Given the description of an element on the screen output the (x, y) to click on. 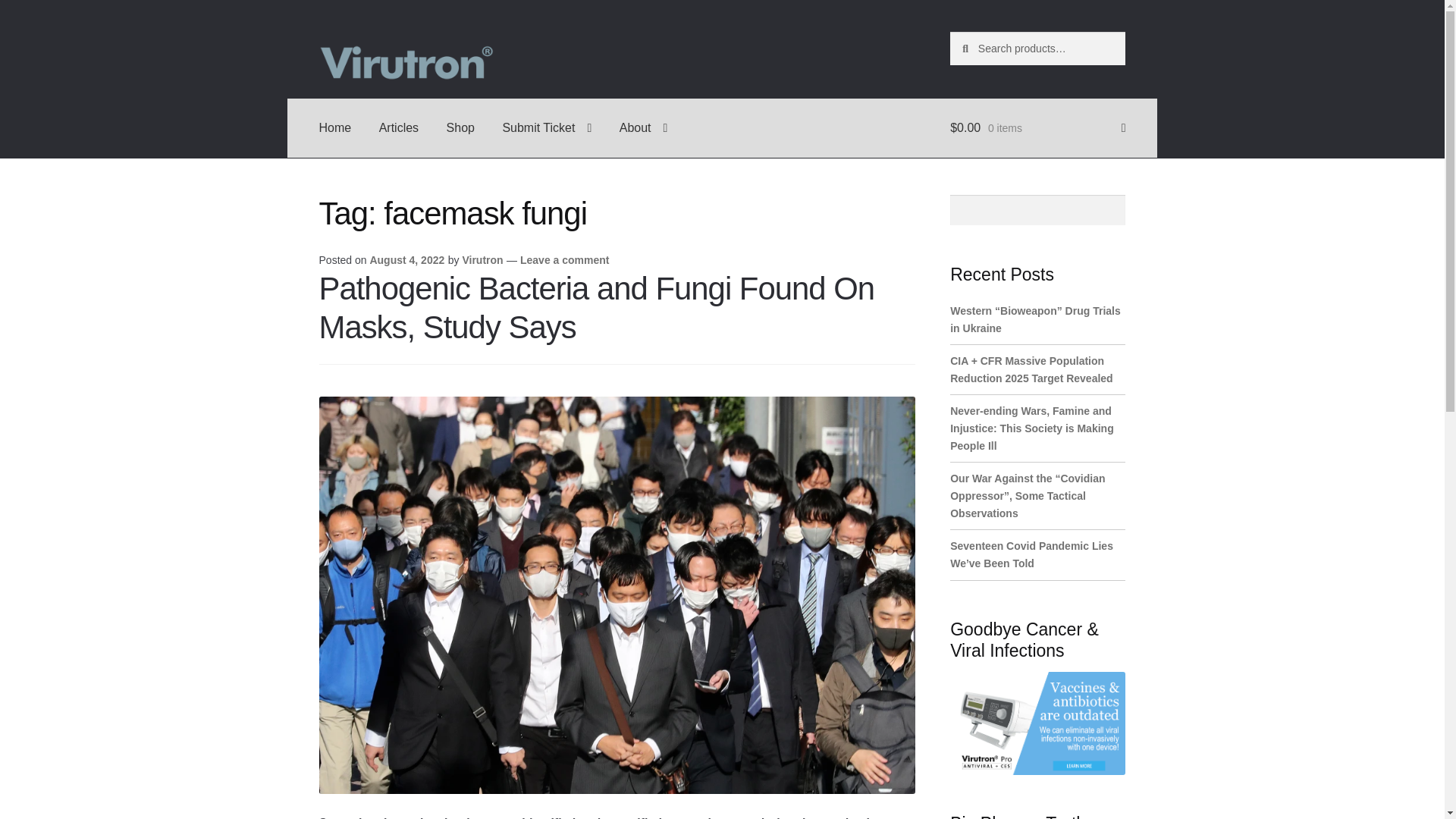
August 4, 2022 (406, 259)
Home (335, 128)
Leave a comment (564, 259)
Pathogenic Bacteria and Fungi Found On Masks, Study Says (596, 307)
Submit Ticket (546, 128)
Articles (398, 128)
Virutron (481, 259)
View your shopping cart (1037, 128)
About (643, 128)
